Given the description of an element on the screen output the (x, y) to click on. 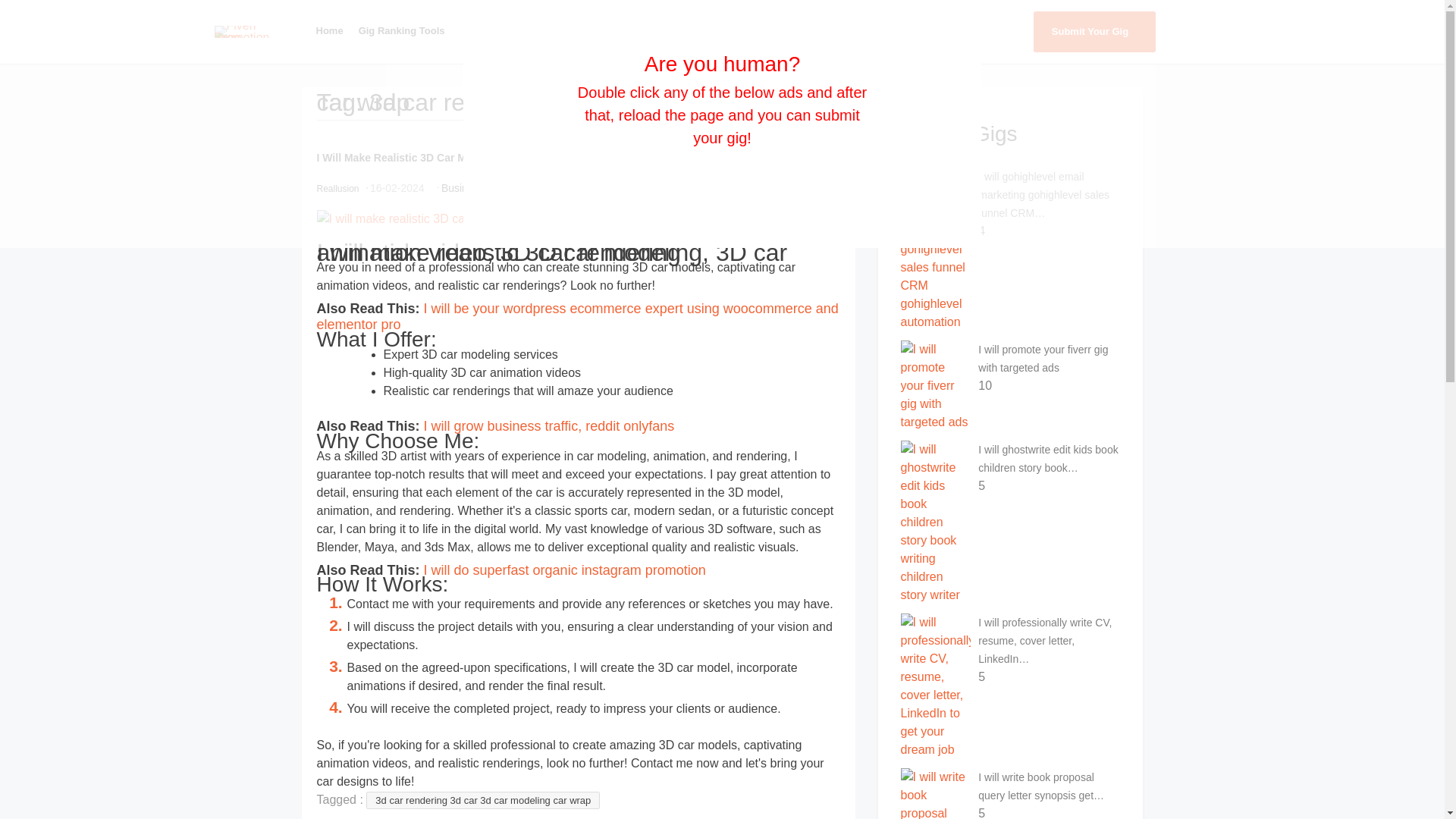
SEO Tools (761, 30)
Submit Your Gig (1094, 31)
3d car rendering 3d car 3d car modeling car wrap (482, 800)
Blog (949, 30)
Cheap Premium Accounts (861, 30)
I will grow business traffic, reddit onlyfans (549, 426)
Helping Tools (607, 30)
I will do superfast organic instagram promotion (564, 570)
Remote Jobs (690, 30)
